Given the description of an element on the screen output the (x, y) to click on. 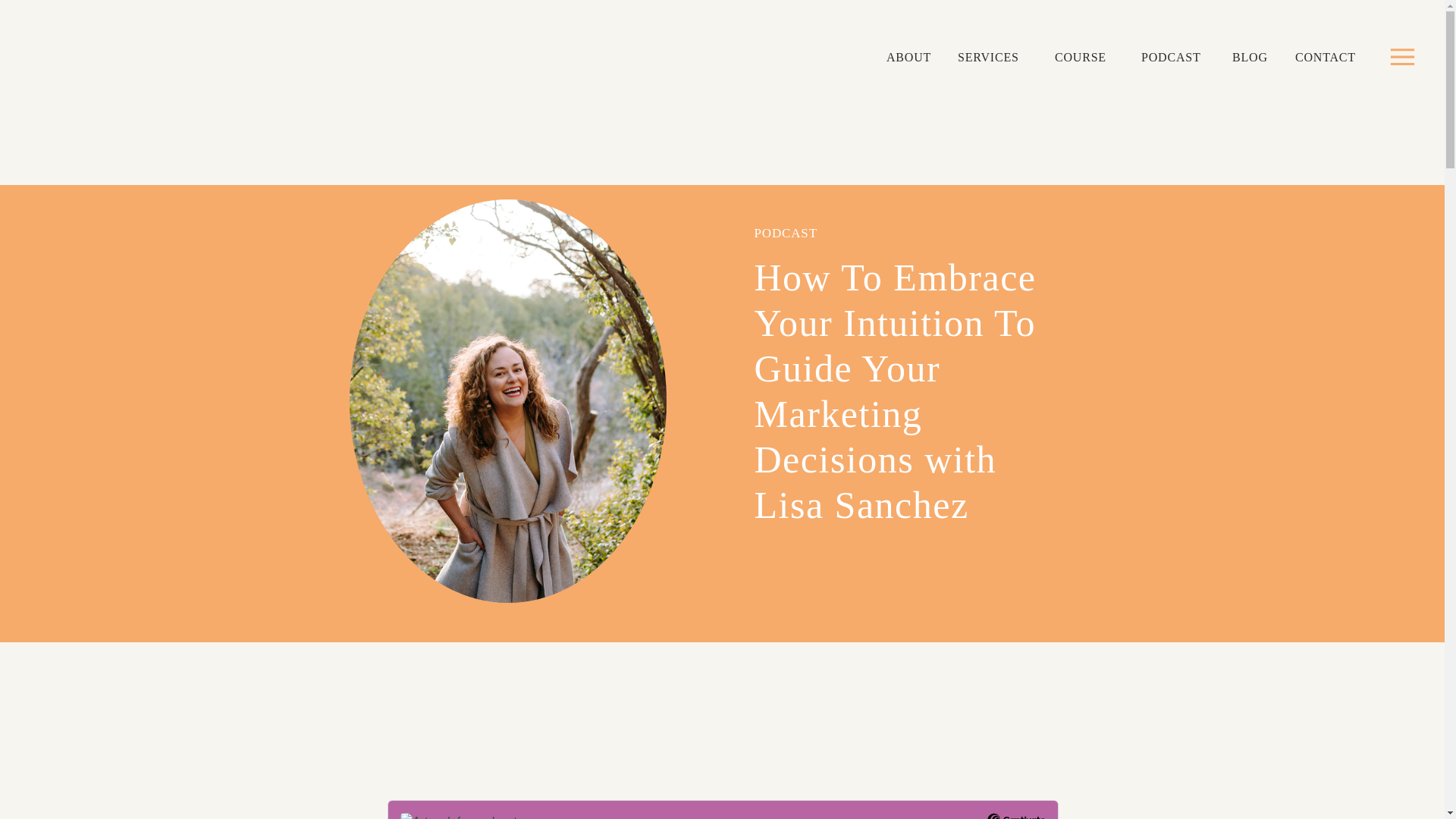
CONTACT (1327, 58)
BLOG (1250, 58)
PODCAST (785, 233)
PODCAST (1174, 58)
SERVICES (992, 58)
ABOUT (911, 58)
COURSE (1085, 58)
